Given the description of an element on the screen output the (x, y) to click on. 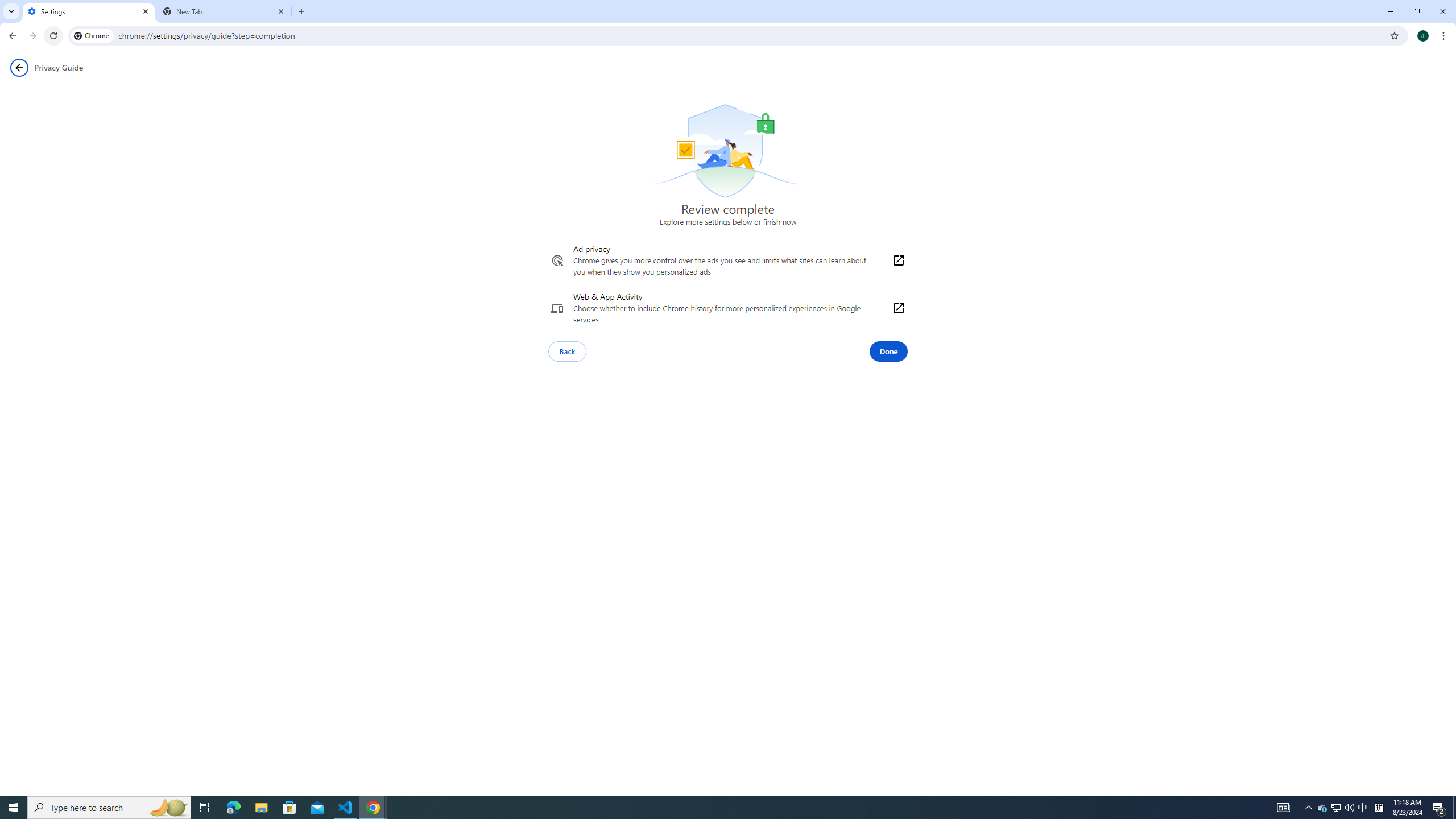
New Tab (224, 11)
